Given the description of an element on the screen output the (x, y) to click on. 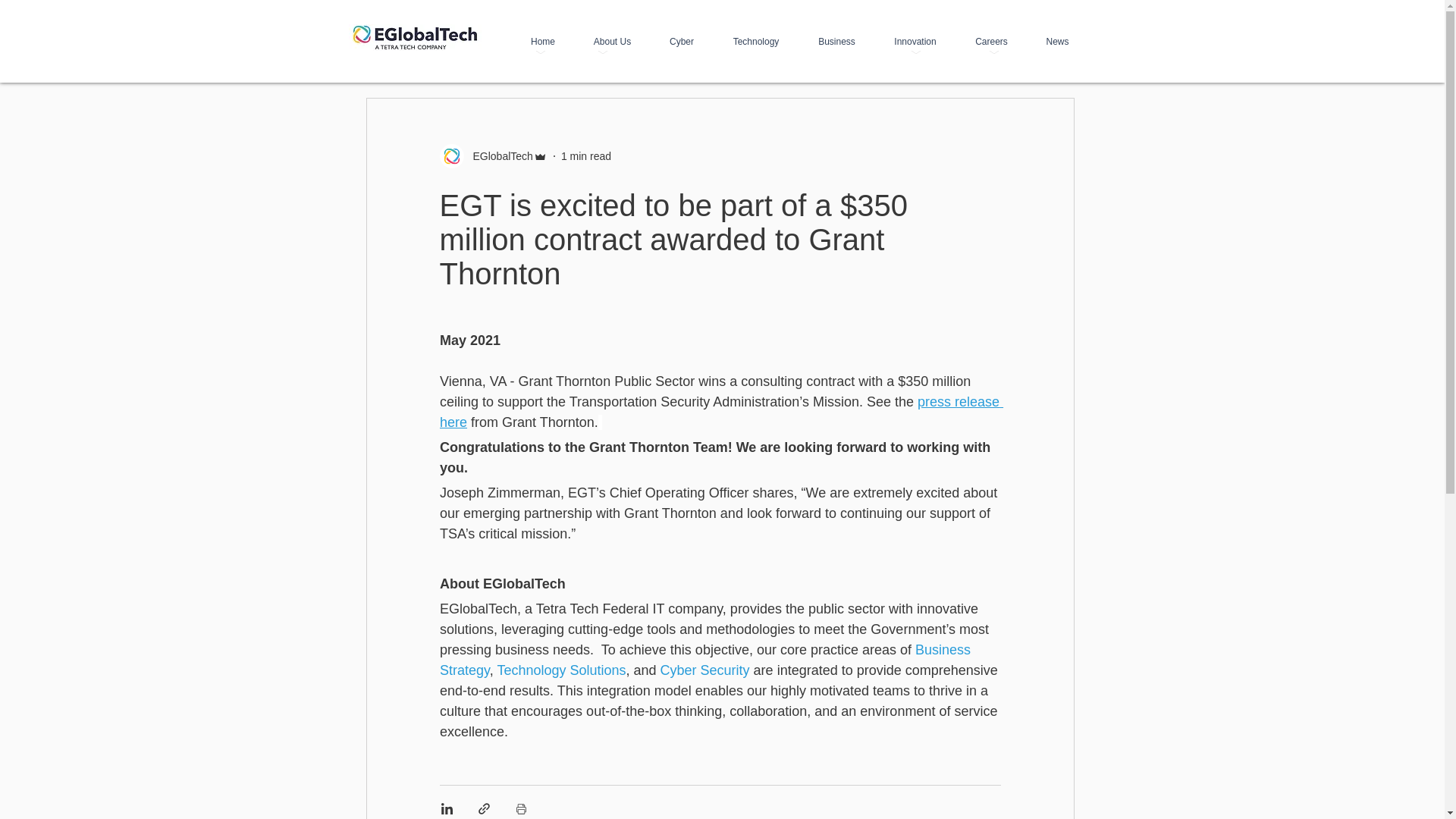
Business Strategy (706, 660)
News (1056, 41)
Technology Solutions (561, 670)
press release (957, 401)
Technology (755, 41)
Business (837, 41)
Innovation (915, 41)
Careers (990, 41)
Cyber (681, 41)
1 min read (585, 155)
Cyber Security (704, 670)
About Us (612, 41)
EGlobalTech (498, 156)
Home (542, 41)
